Given the description of an element on the screen output the (x, y) to click on. 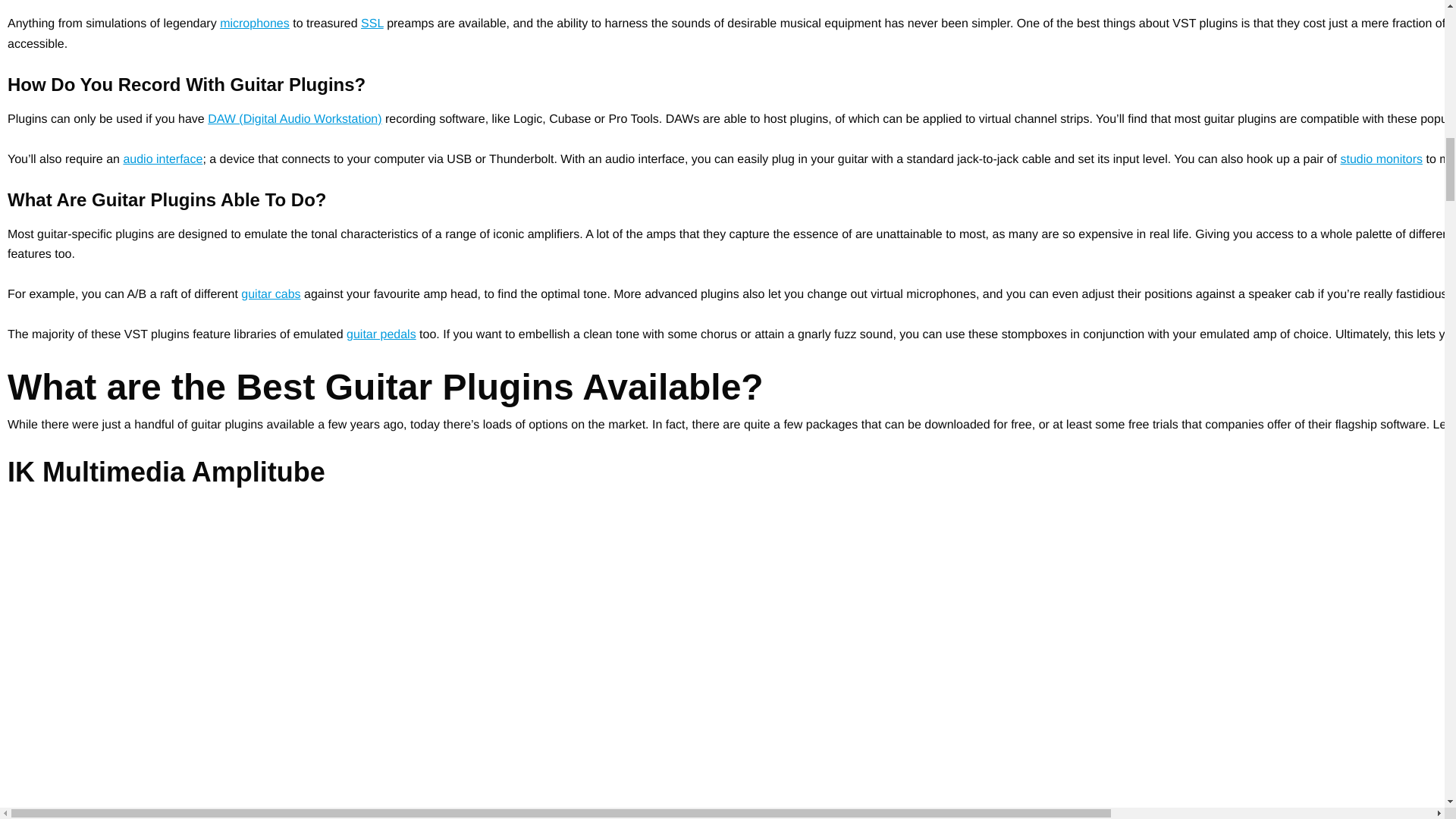
audio interface (162, 159)
guitar pedals (381, 334)
studio monitors (1380, 159)
SSL (372, 23)
guitar cabs (270, 294)
microphones (254, 23)
